Given the description of an element on the screen output the (x, y) to click on. 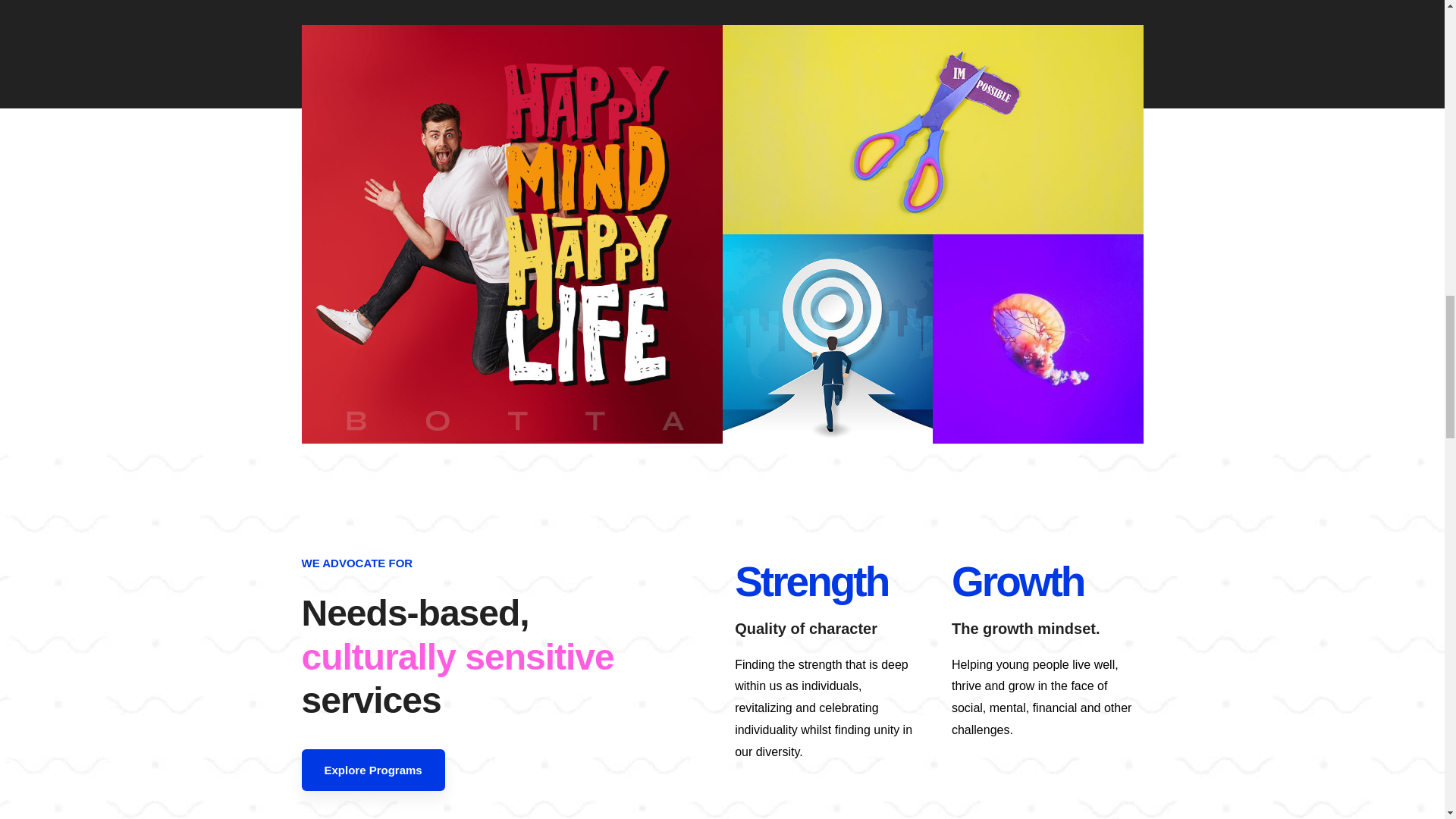
Explore Programs (373, 770)
